Given the description of an element on the screen output the (x, y) to click on. 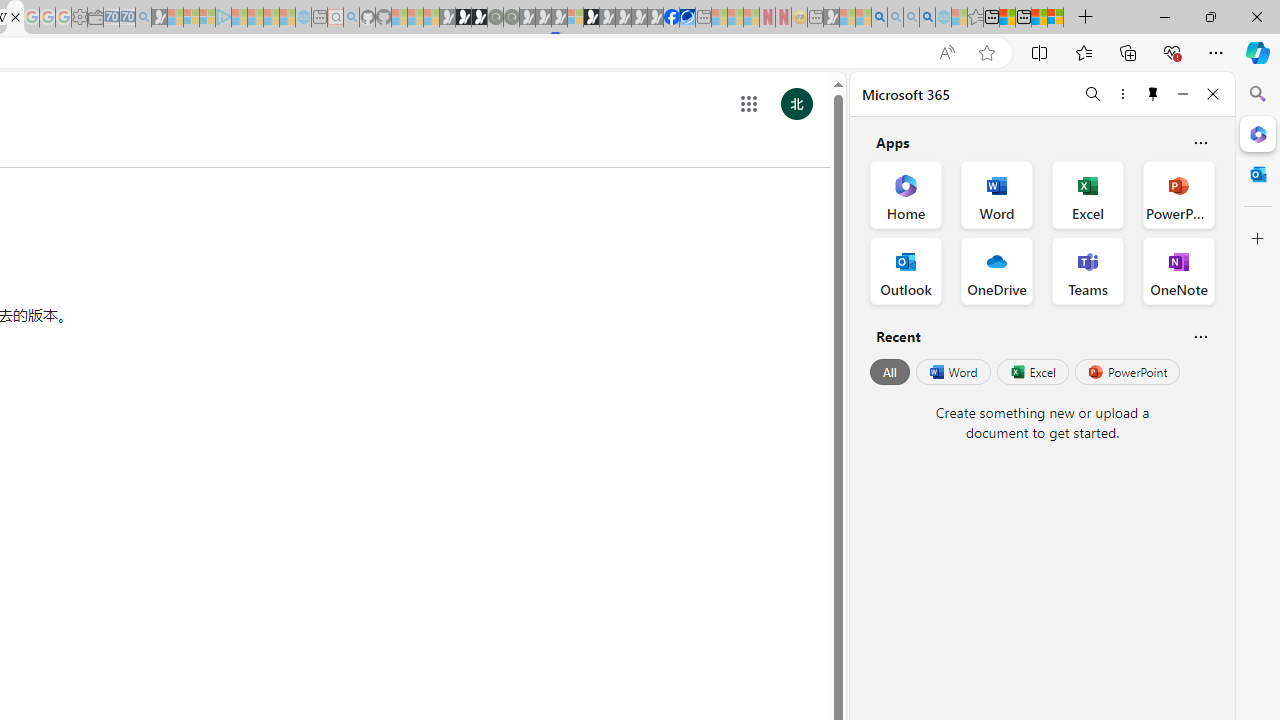
Play Zoo Boom in your browser | Games from Microsoft Start (463, 17)
All (890, 372)
Excel Office App (1087, 194)
Bing AI - Search (879, 17)
Future Focus Report 2024 - Sleeping (511, 17)
Word (952, 372)
Outlook Office App (906, 270)
OneDrive Office App (996, 270)
